Given the description of an element on the screen output the (x, y) to click on. 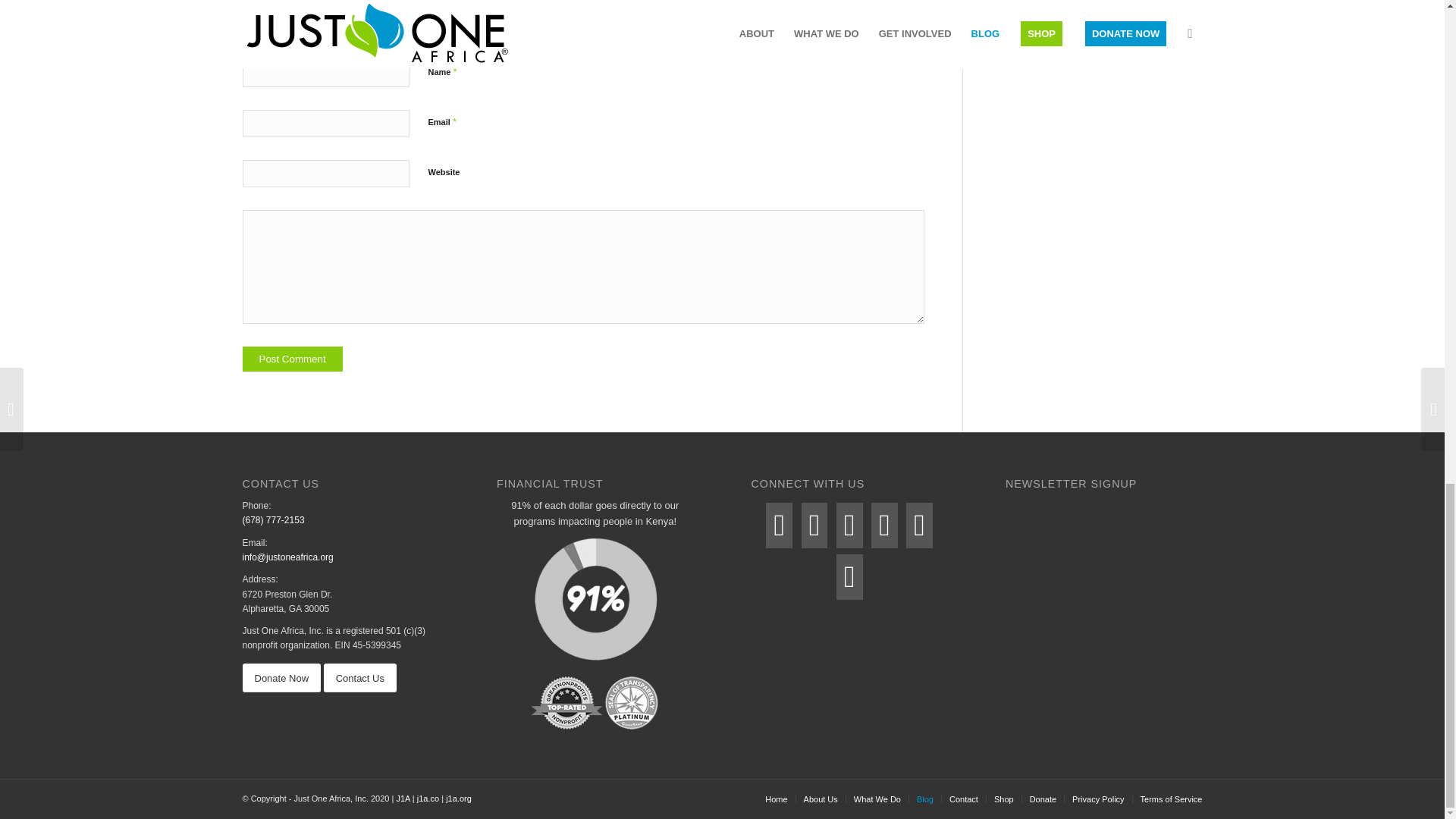
Post Comment (292, 358)
